Given the description of an element on the screen output the (x, y) to click on. 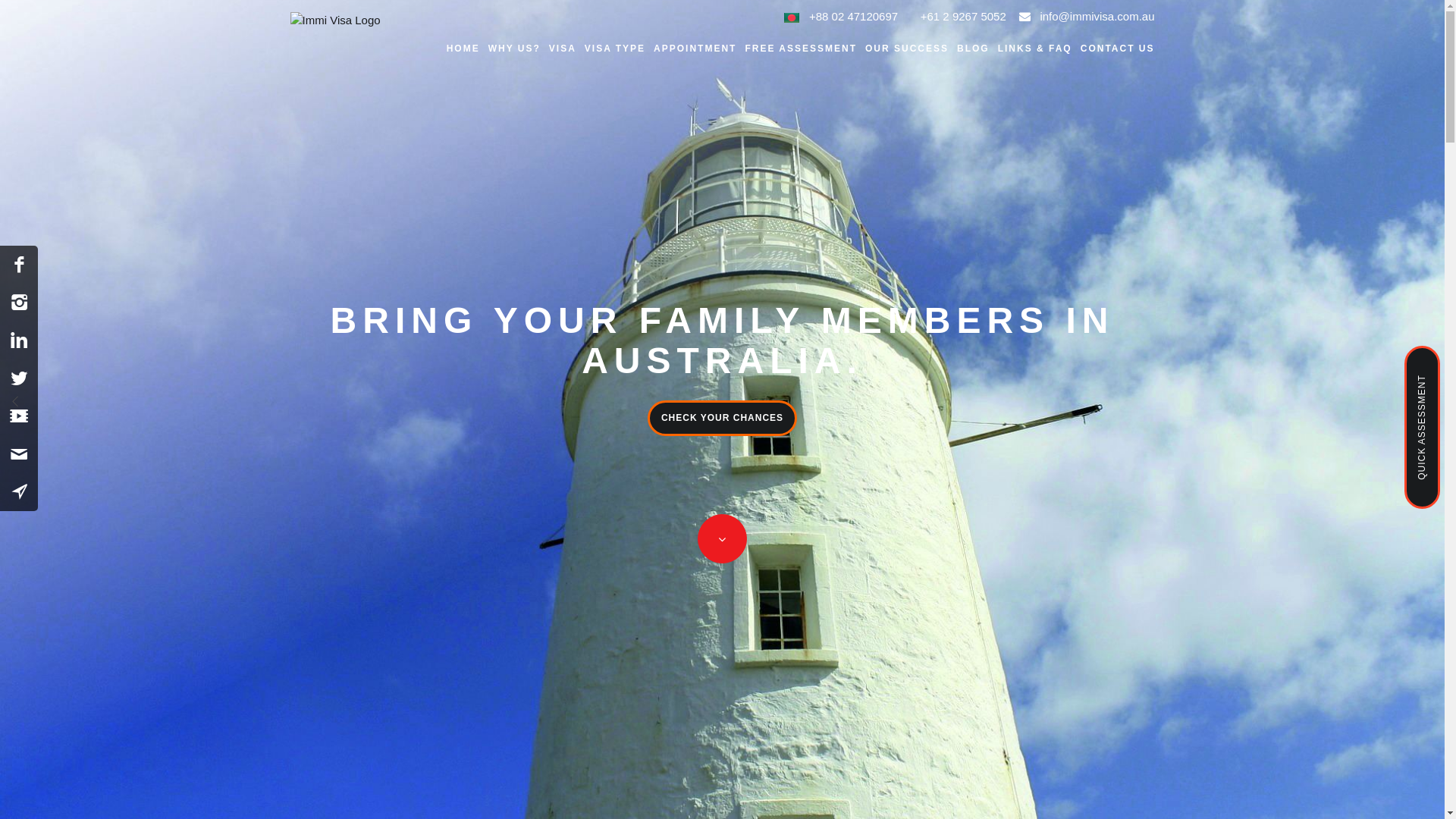
FREE ASSESSMENT Element type: text (803, 48)
OUR SUCCESS Element type: text (910, 48)
CHECK YOUR CHANCES Element type: text (722, 418)
APPOINTMENT Element type: text (697, 48)
HOME Element type: text (466, 48)
MIGRATE TO AUSTRALIA & BE PERMANENT. Element type: text (721, 340)
  info@immivisa.com.au Element type: text (1093, 15)
LINKS & FAQ Element type: text (1038, 48)
  +61 2 9267 5052 Element type: text (959, 15)
VISA TYPE Element type: text (617, 48)
  +88 02 47120697 Element type: text (850, 15)
WHY US? Element type: text (517, 48)
VISA Element type: text (565, 48)
Submit Element type: text (770, 402)
CONTACT US Element type: text (1116, 48)
BLOG Element type: text (976, 48)
